Given the description of an element on the screen output the (x, y) to click on. 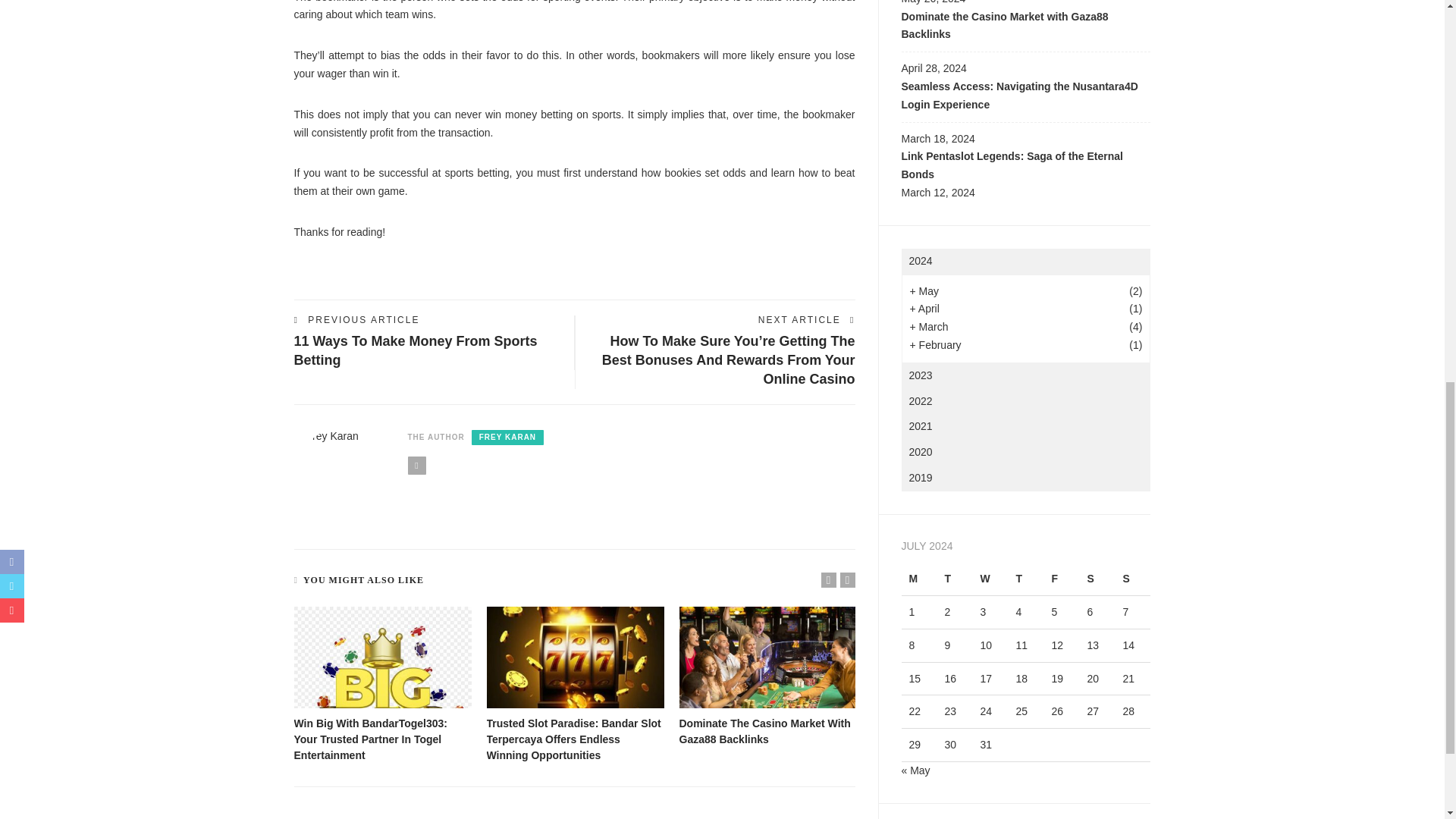
11 Ways to Make Money from Sports Betting (415, 350)
11 Ways To Make Money From Sports Betting (415, 350)
FREY KARAN (507, 437)
